Given the description of an element on the screen output the (x, y) to click on. 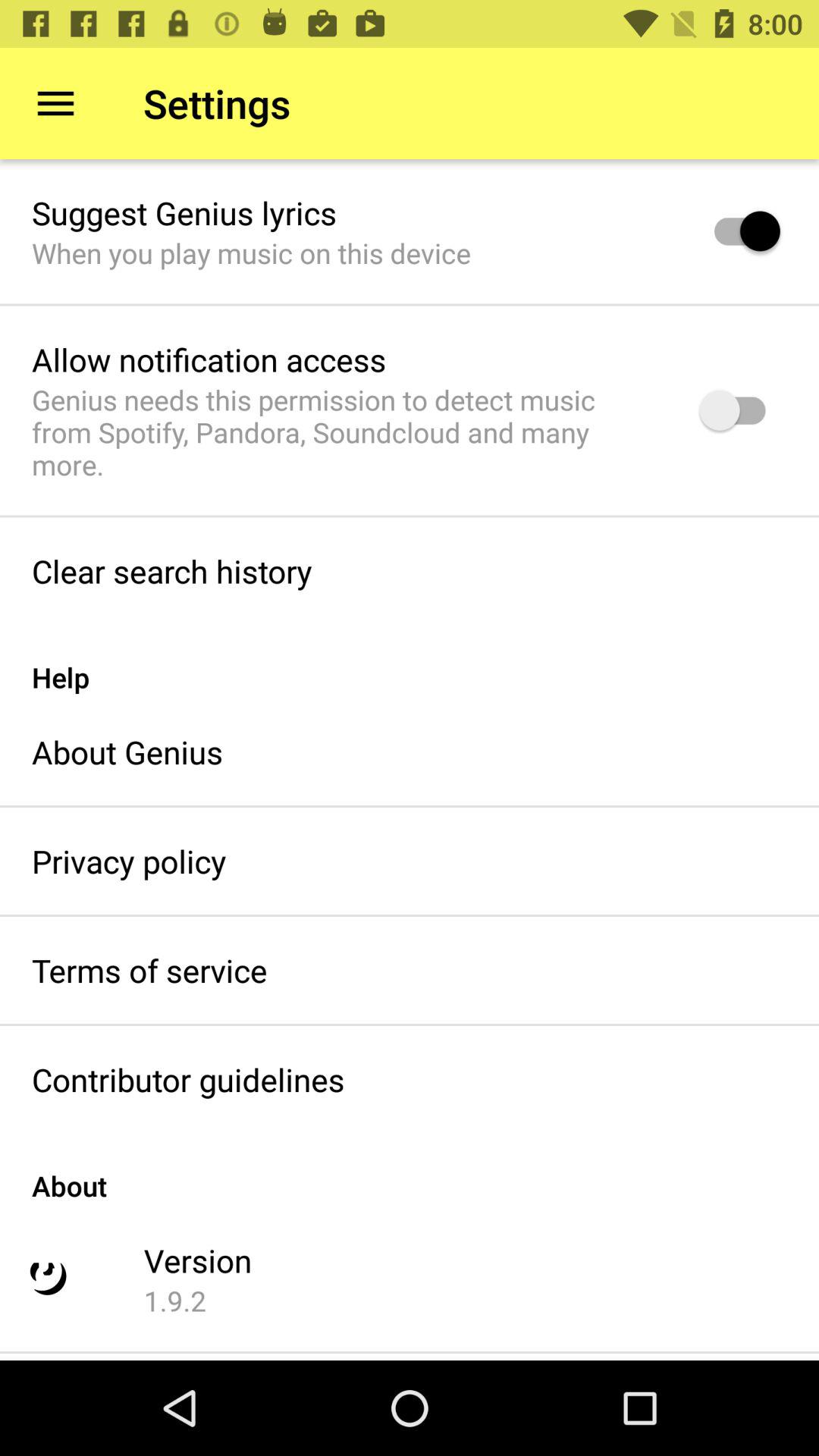
jump until the privacy policy (128, 860)
